Given the description of an element on the screen output the (x, y) to click on. 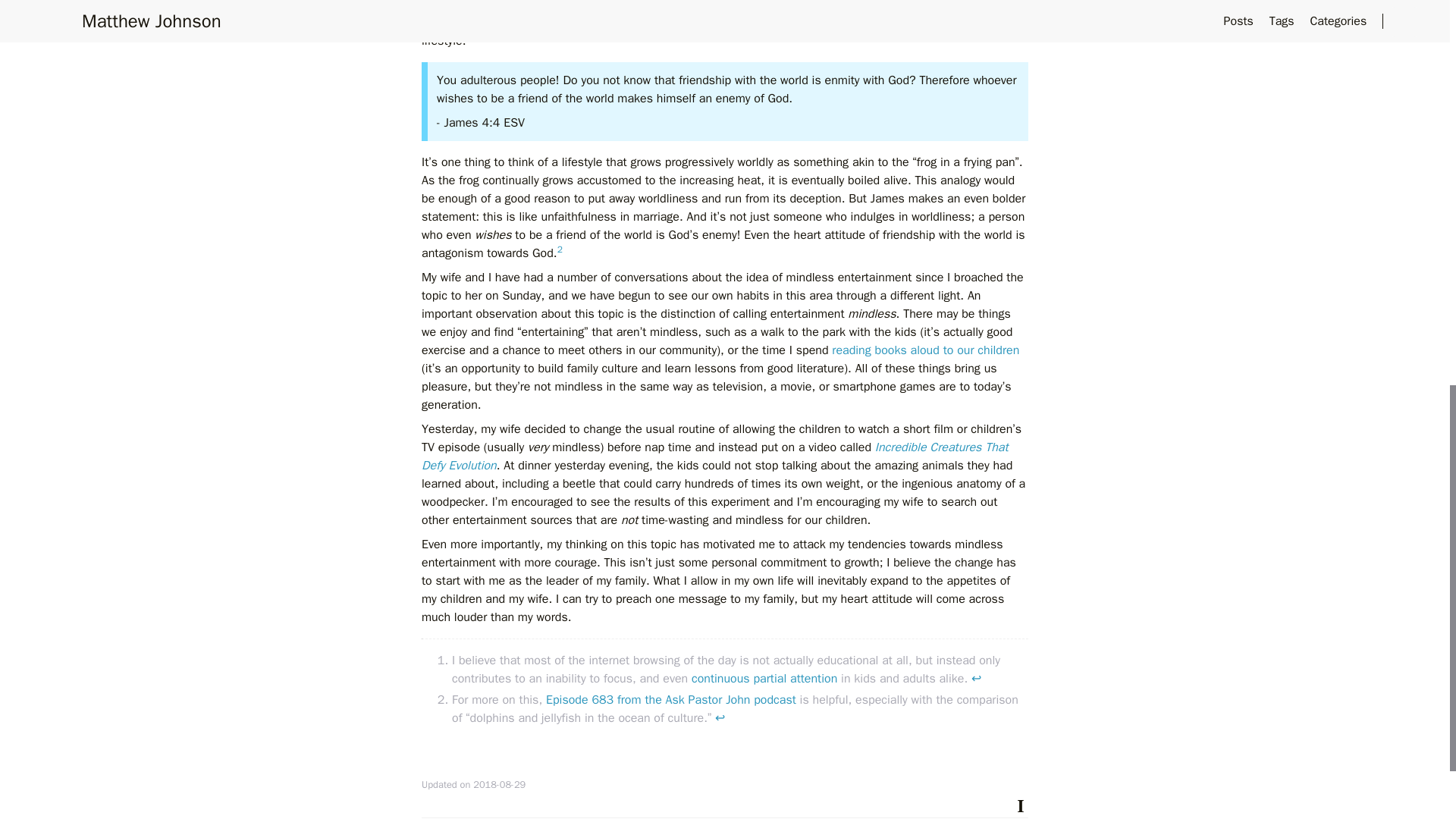
reading books aloud to our children (925, 350)
continuous partial attention (764, 678)
Episode 683 from the Ask Pastor John podcast (671, 699)
Share on Instapaper (1020, 804)
Incredible Creatures That Defy Evolution (715, 456)
